Given the description of an element on the screen output the (x, y) to click on. 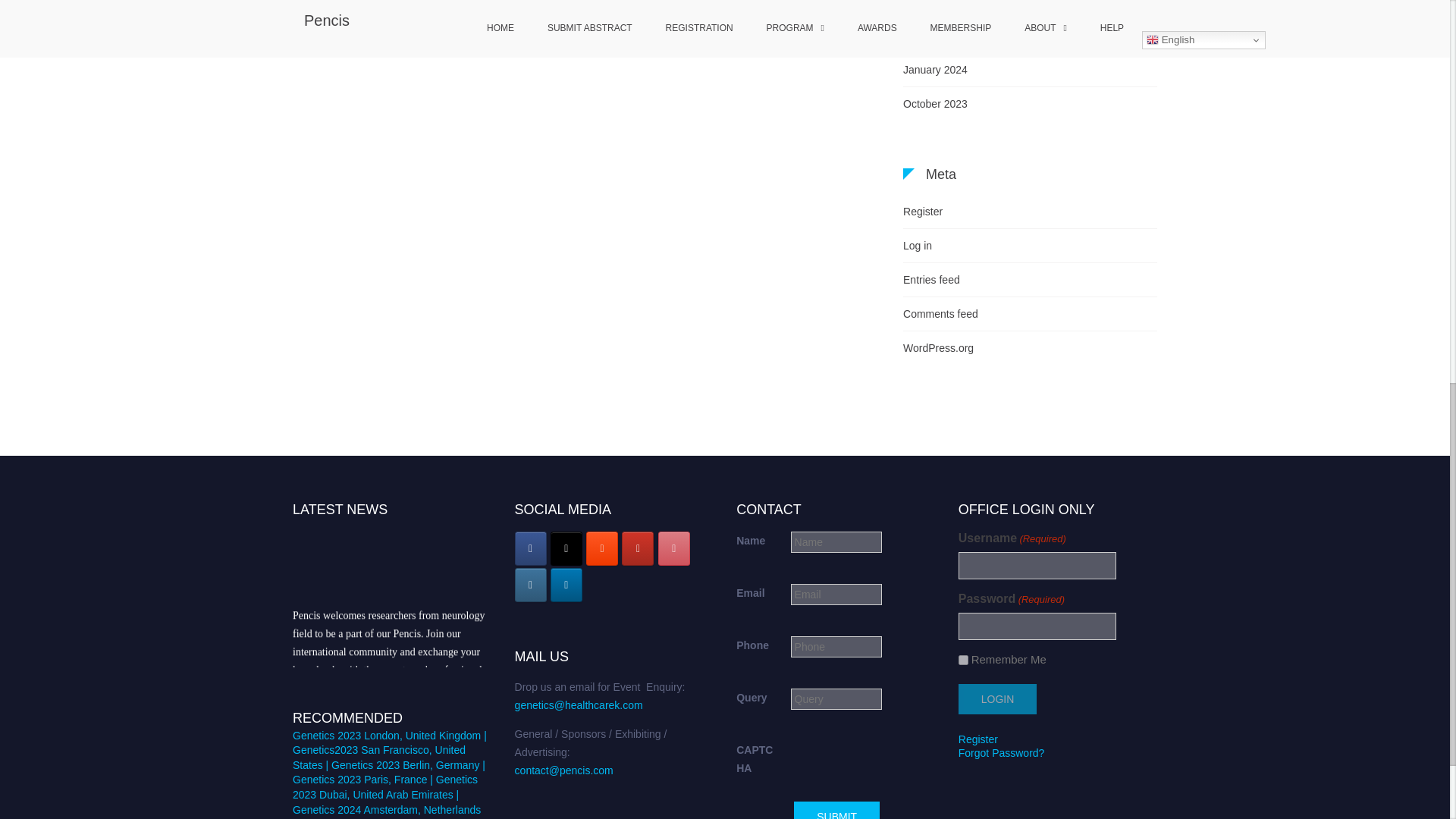
1 (963, 660)
Pencis on Youtube (637, 548)
Login (997, 698)
Pencis on Instagram (531, 584)
Pencis on Facebook (531, 548)
Submit (836, 810)
Pencis on Blogger B (601, 548)
Pencis on X Twitter (566, 548)
Pencis on Pinterest (674, 548)
